Given the description of an element on the screen output the (x, y) to click on. 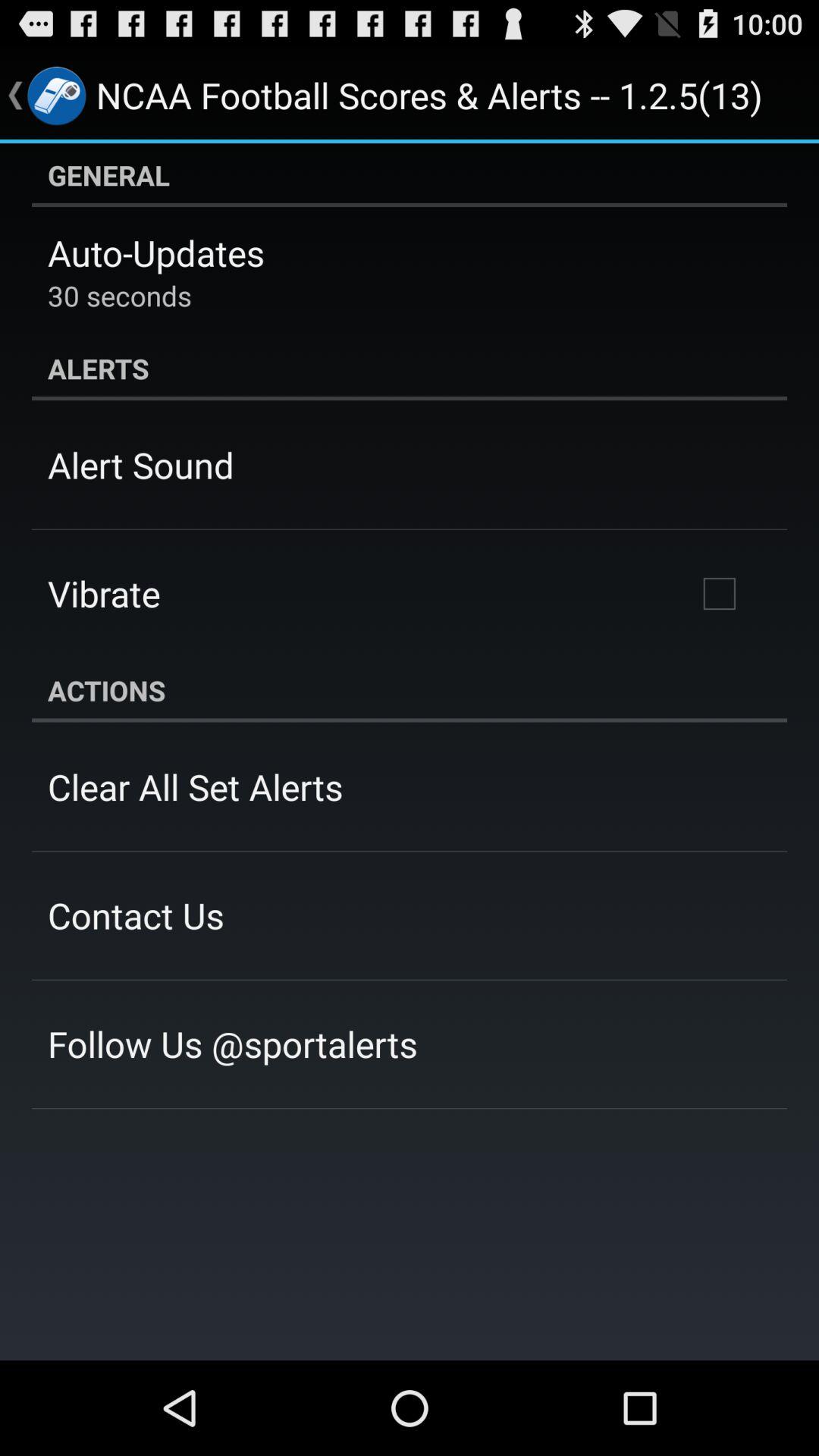
launch the clear all set app (194, 786)
